Given the description of an element on the screen output the (x, y) to click on. 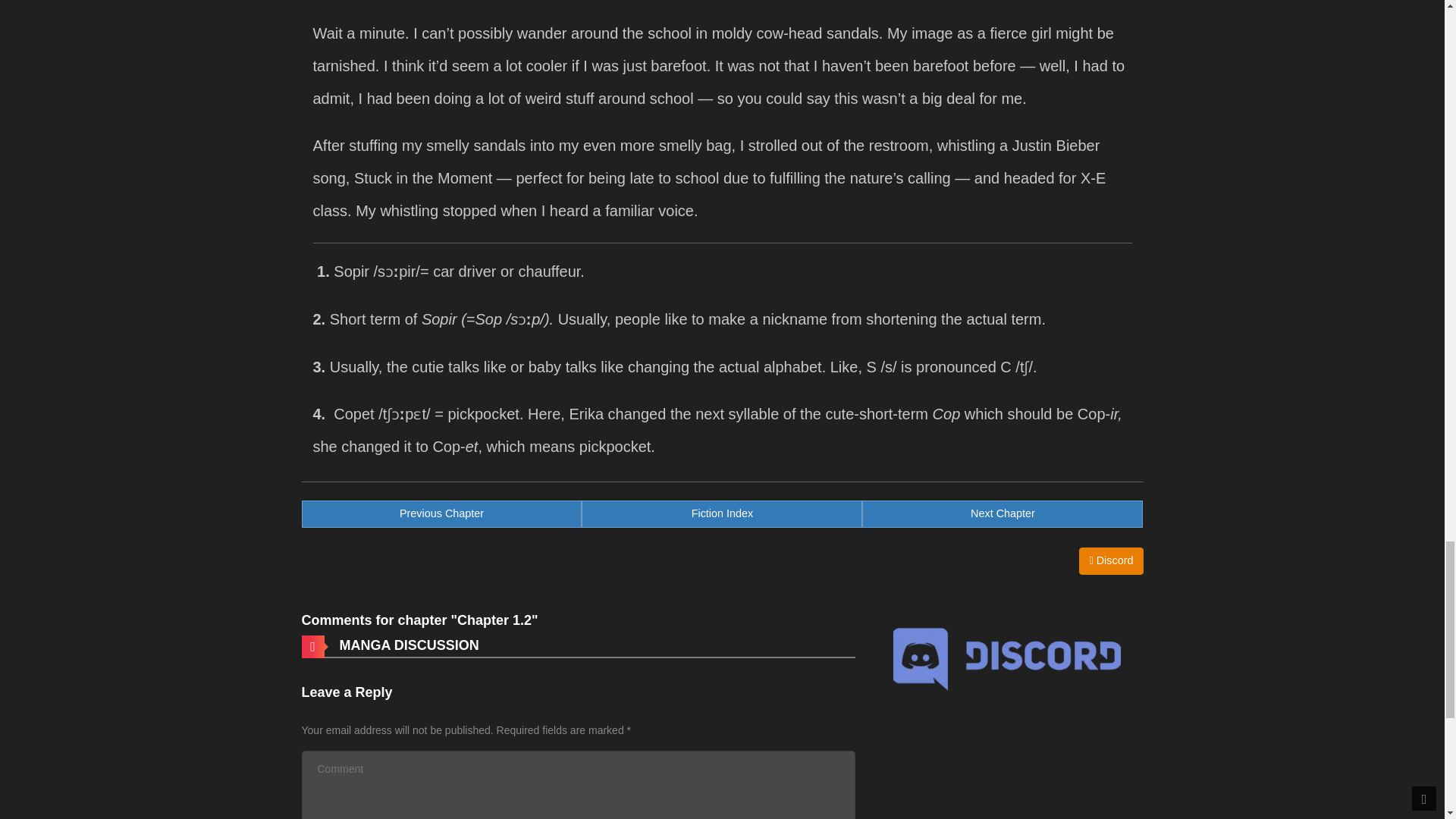
Discord (1001, 513)
